Given the description of an element on the screen output the (x, y) to click on. 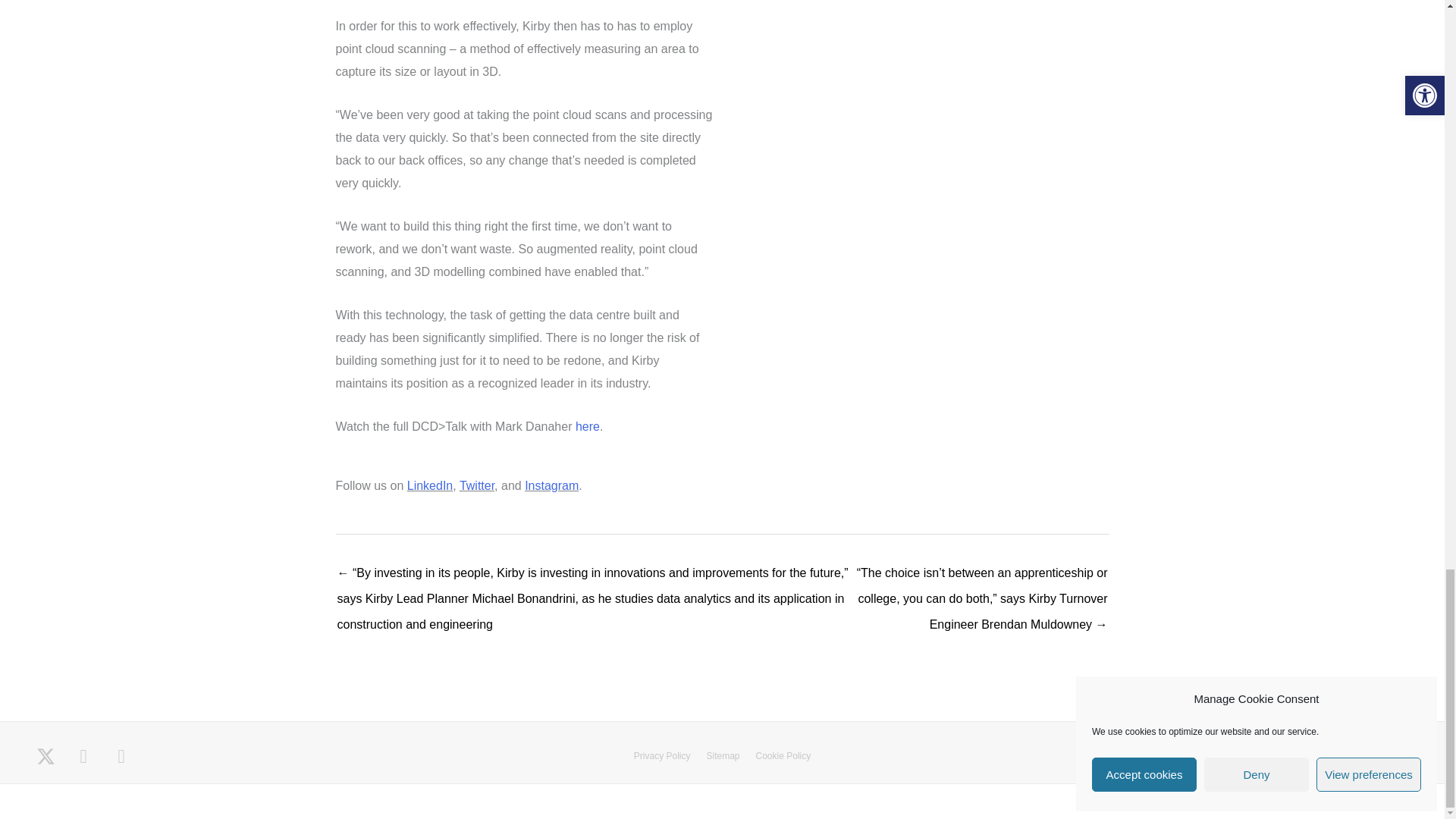
LinkedIn (429, 485)
Website Design Galway (1341, 794)
LinkedIn (83, 757)
Twitter (477, 485)
here (587, 426)
YouTube (121, 757)
